Given the description of an element on the screen output the (x, y) to click on. 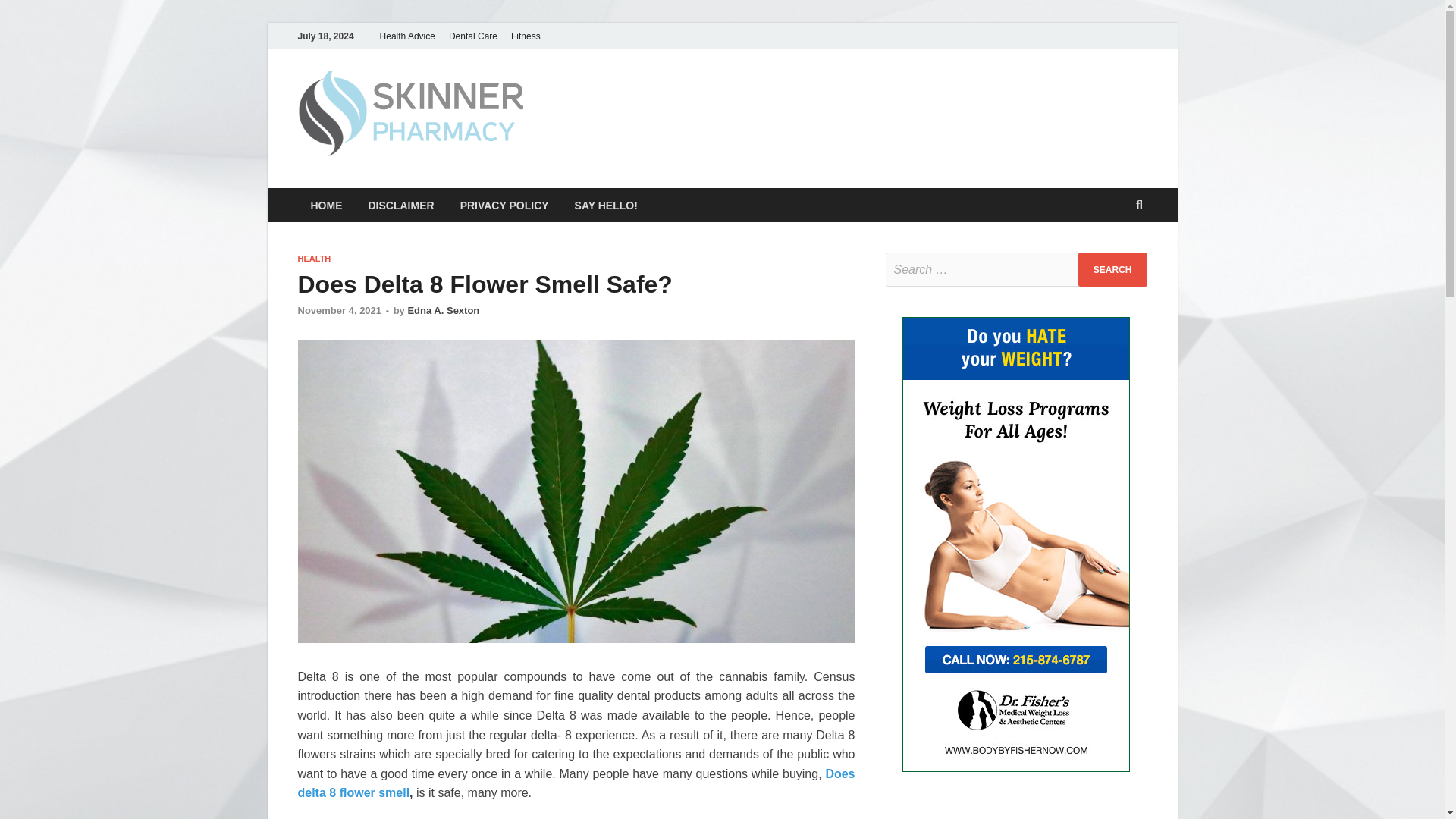
Skinner Pharmacy (655, 100)
Does delta 8 flower smell (575, 783)
Search (1112, 269)
HEALTH (313, 257)
November 4, 2021 (339, 310)
Fitness (525, 35)
Dental Care (472, 35)
Search (1112, 269)
SAY HELLO! (606, 204)
Edna A. Sexton (443, 310)
DISCLAIMER (400, 204)
Health Advice (407, 35)
Search (1112, 269)
PRIVACY POLICY (504, 204)
HOME (326, 204)
